Given the description of an element on the screen output the (x, y) to click on. 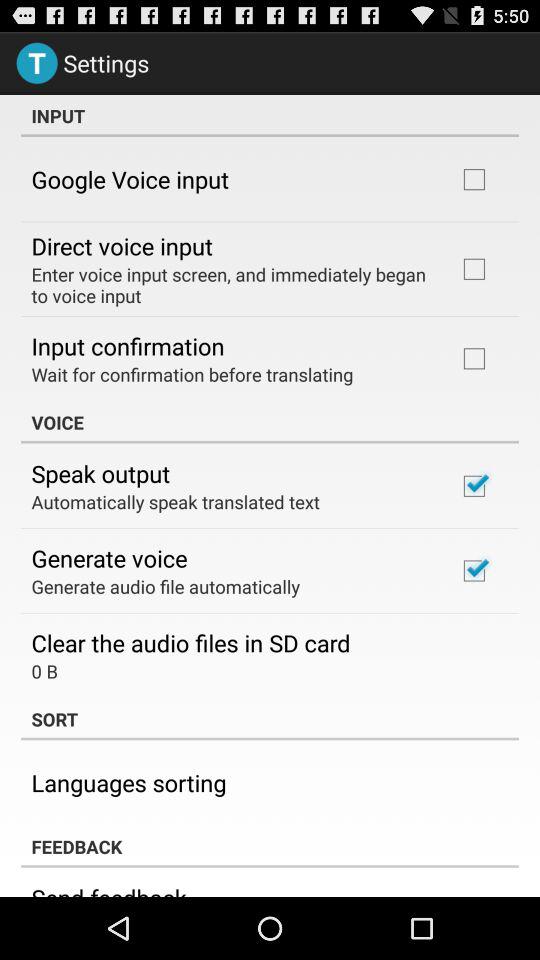
choose app above 0 b (190, 642)
